Given the description of an element on the screen output the (x, y) to click on. 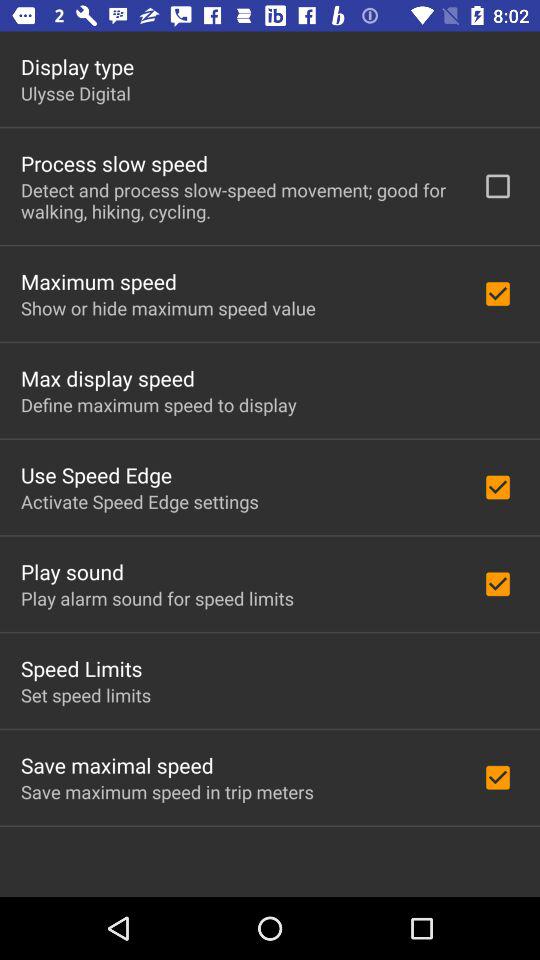
open item below display type icon (75, 93)
